Given the description of an element on the screen output the (x, y) to click on. 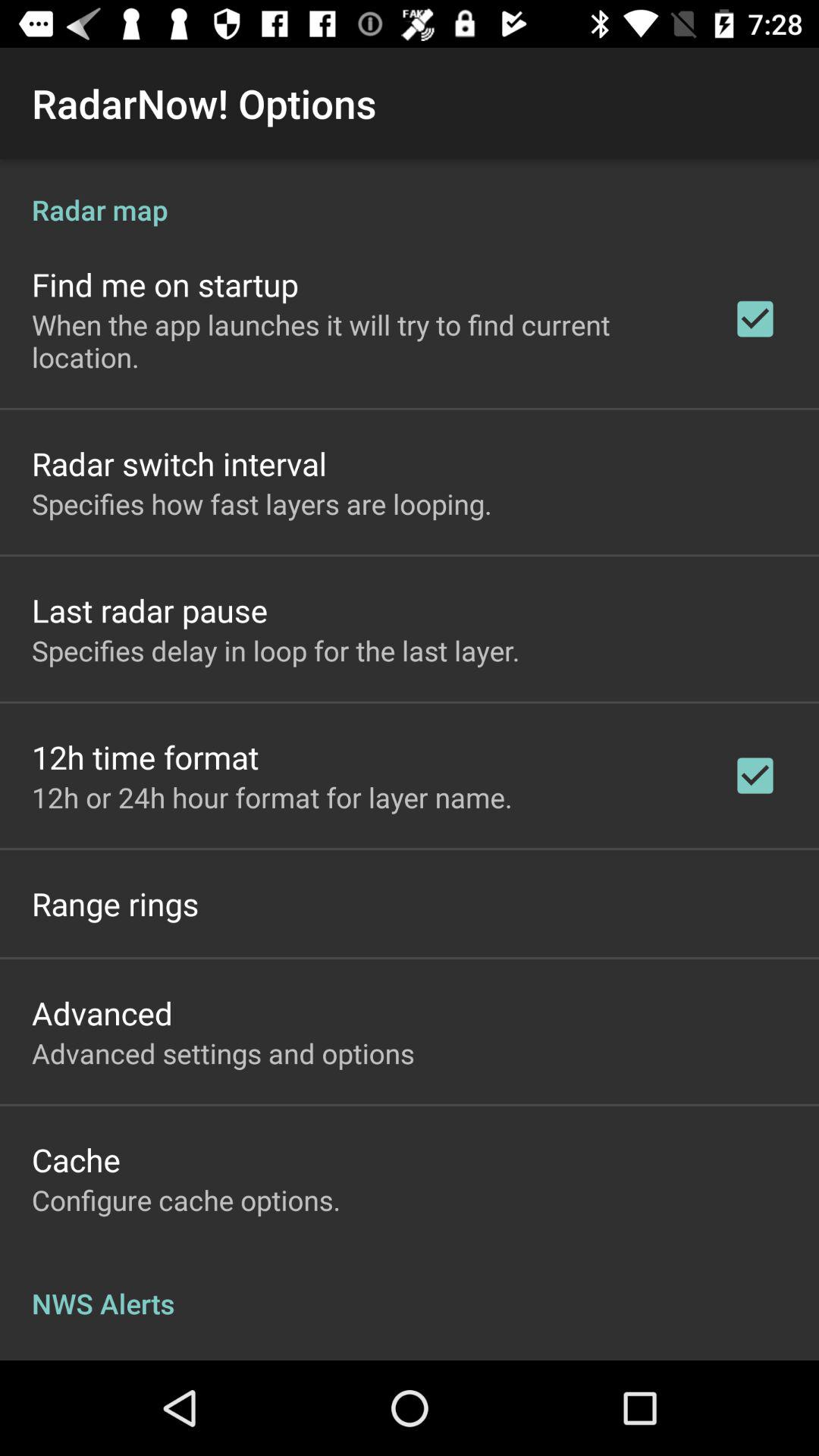
flip until the when the app item (361, 340)
